Given the description of an element on the screen output the (x, y) to click on. 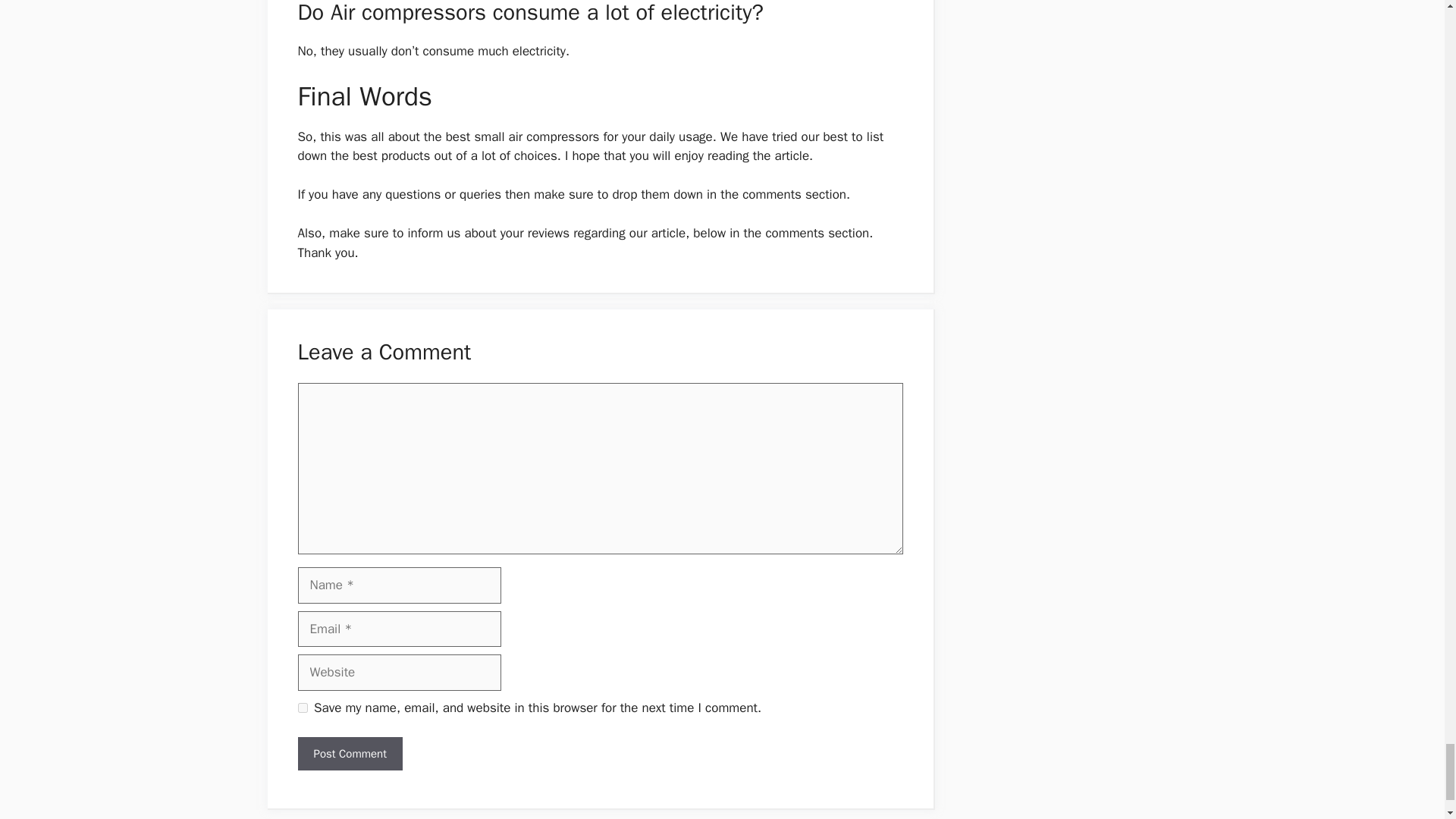
yes (302, 707)
Post Comment (349, 754)
